Given the description of an element on the screen output the (x, y) to click on. 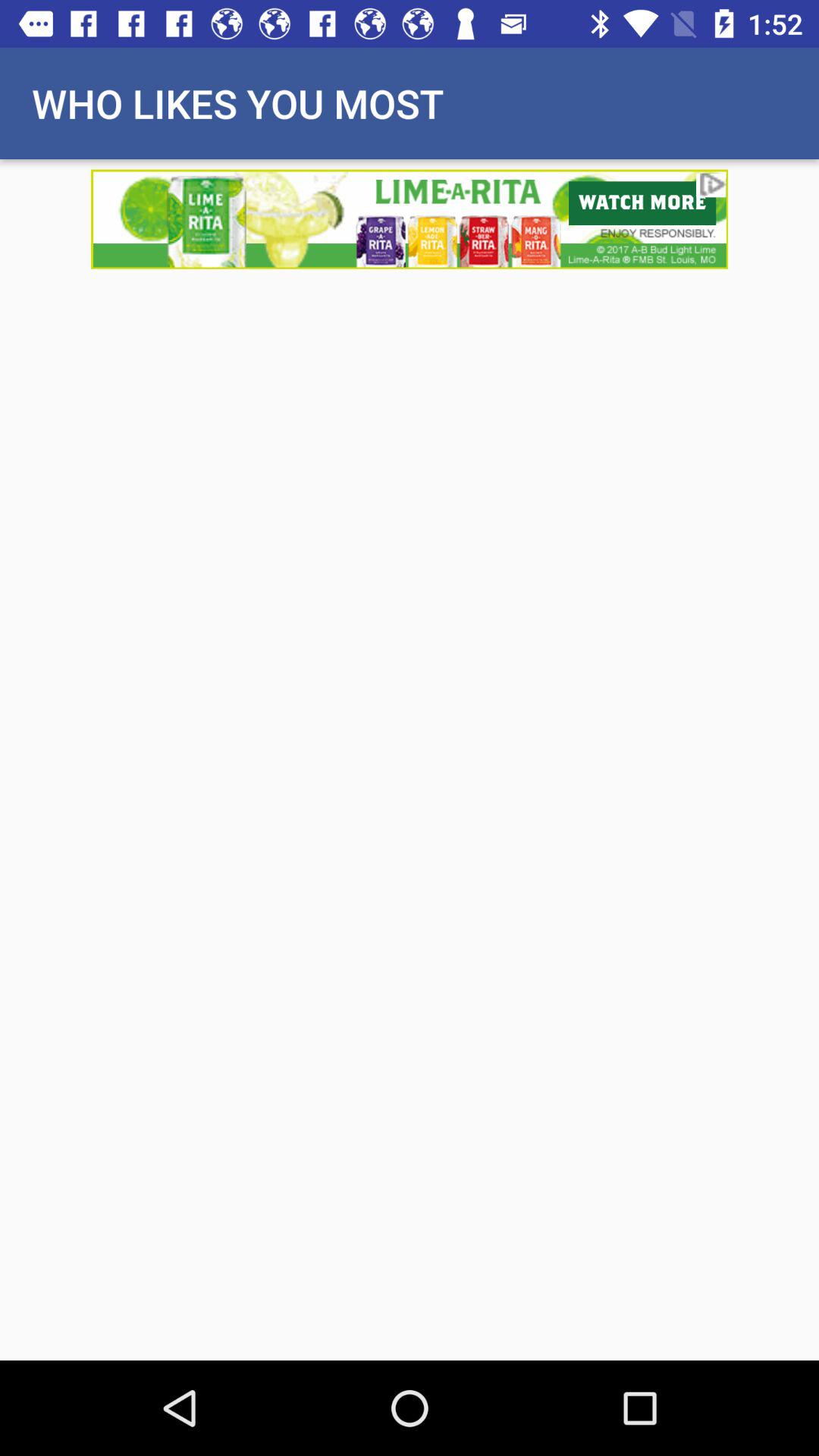
advertise banner (409, 219)
